Given the description of an element on the screen output the (x, y) to click on. 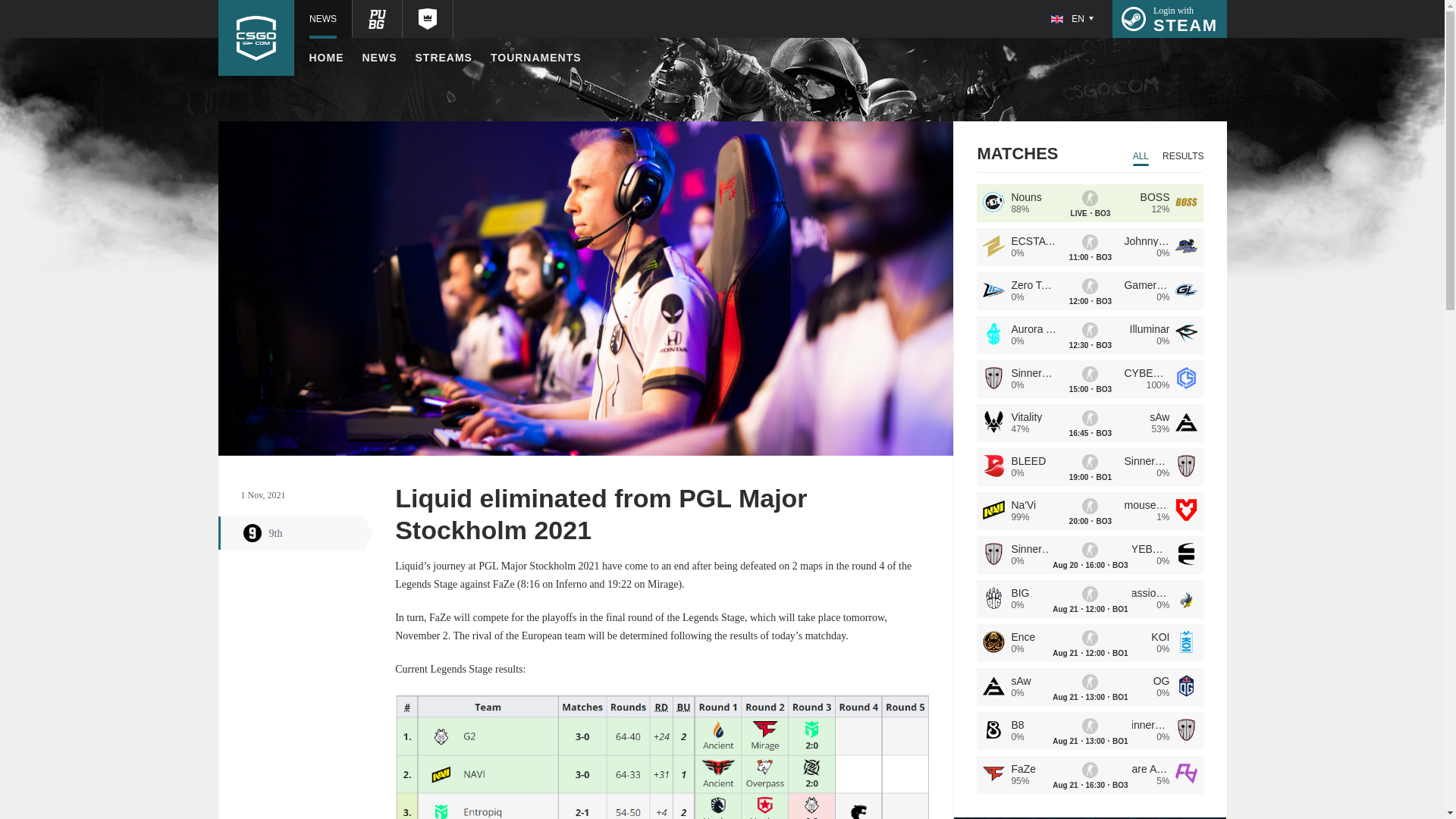
STREAMS (325, 57)
NEWS (442, 57)
9th (379, 57)
TOURNAMENTS (1169, 18)
